Given the description of an element on the screen output the (x, y) to click on. 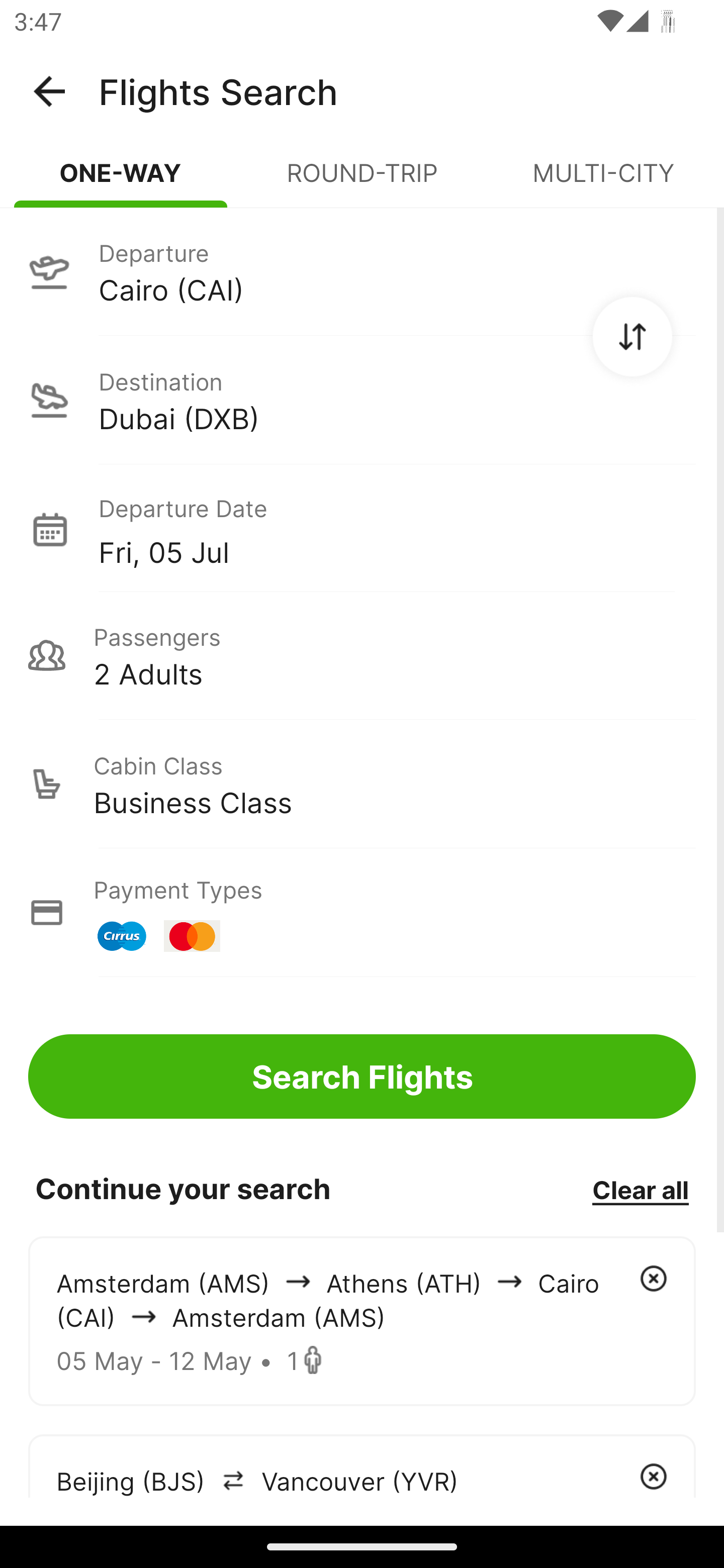
ONE-WAY (120, 180)
ROUND-TRIP (361, 180)
MULTI-CITY (603, 180)
Departure Cairo (CAI) (362, 270)
Destination Dubai (DXB) (362, 400)
Departure Date Fri, 05 Jul (396, 528)
Passengers 2 Adults (362, 655)
Cabin Class Business Class (362, 783)
Payment Types (362, 912)
Search Flights (361, 1075)
Clear all (640, 1189)
Beijing (BJS)  arrowIcon  Vancouver (YVR) (361, 1465)
